Given the description of an element on the screen output the (x, y) to click on. 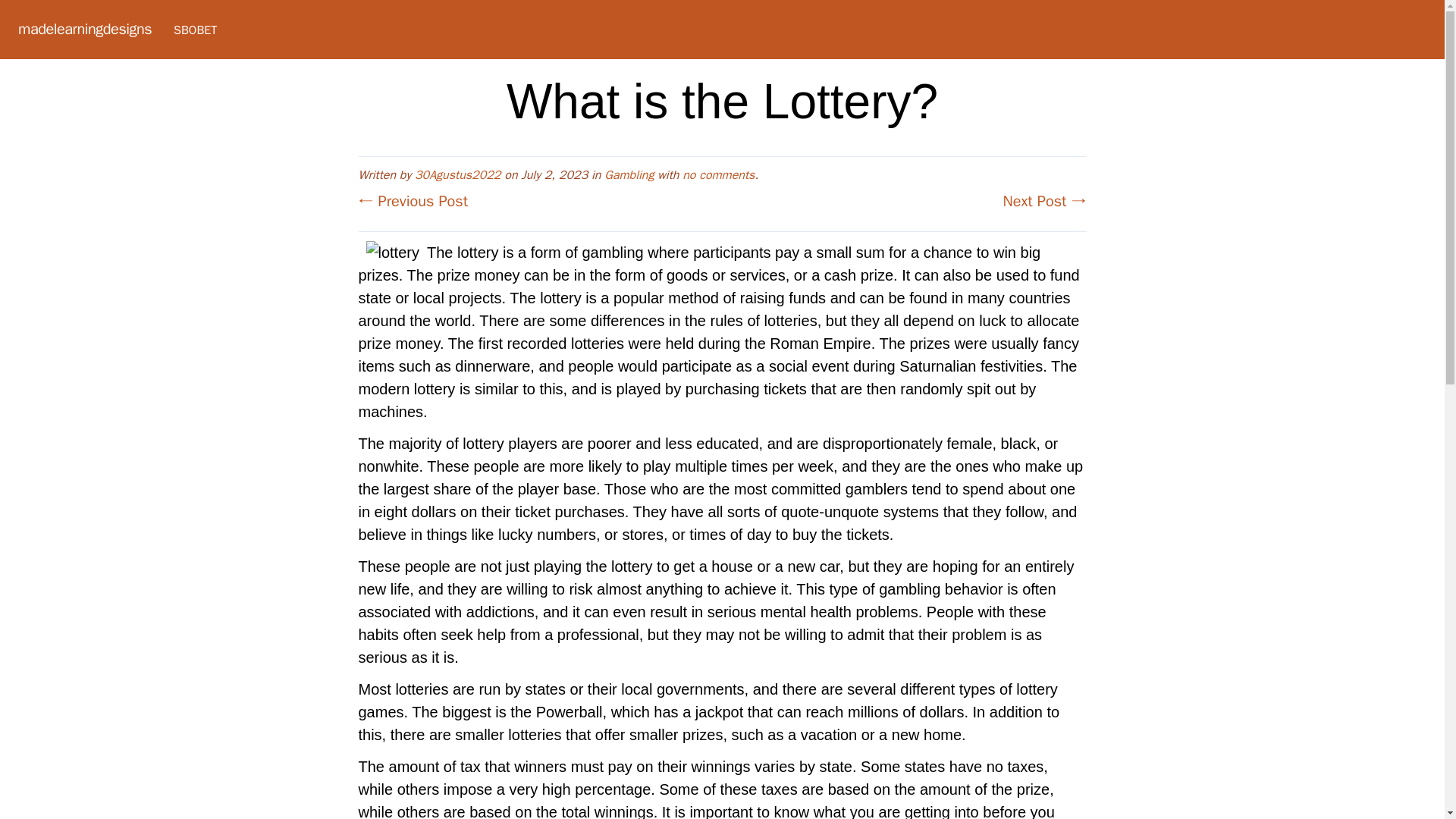
no comments (718, 174)
no comments (718, 174)
SBOBET (194, 30)
Gambling (628, 174)
30Agustus2022 (457, 174)
madelearningdesigns (84, 29)
